Given the description of an element on the screen output the (x, y) to click on. 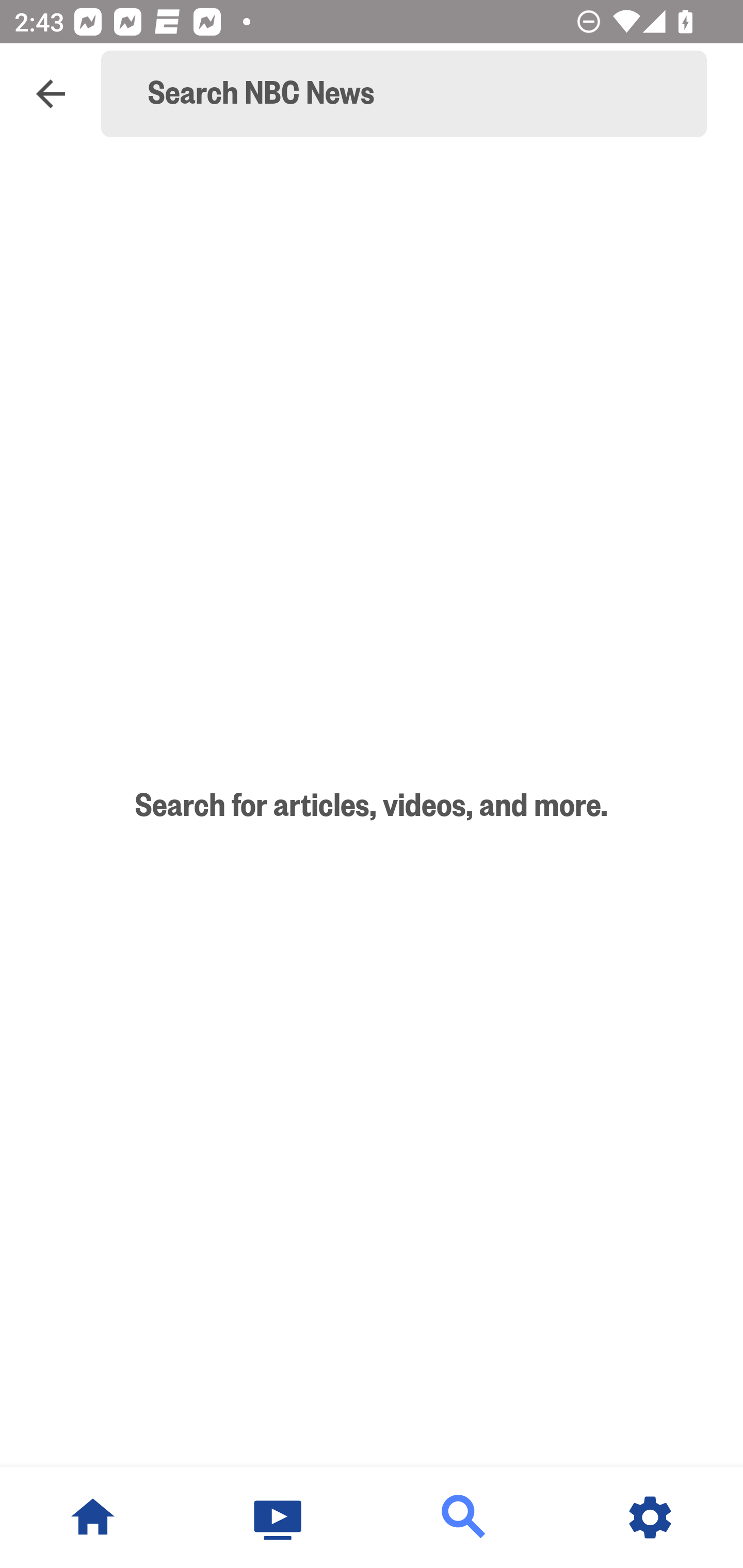
Navigate up (50, 93)
Search NBC News (412, 94)
NBC News Home (92, 1517)
Watch (278, 1517)
Settings (650, 1517)
